Given the description of an element on the screen output the (x, y) to click on. 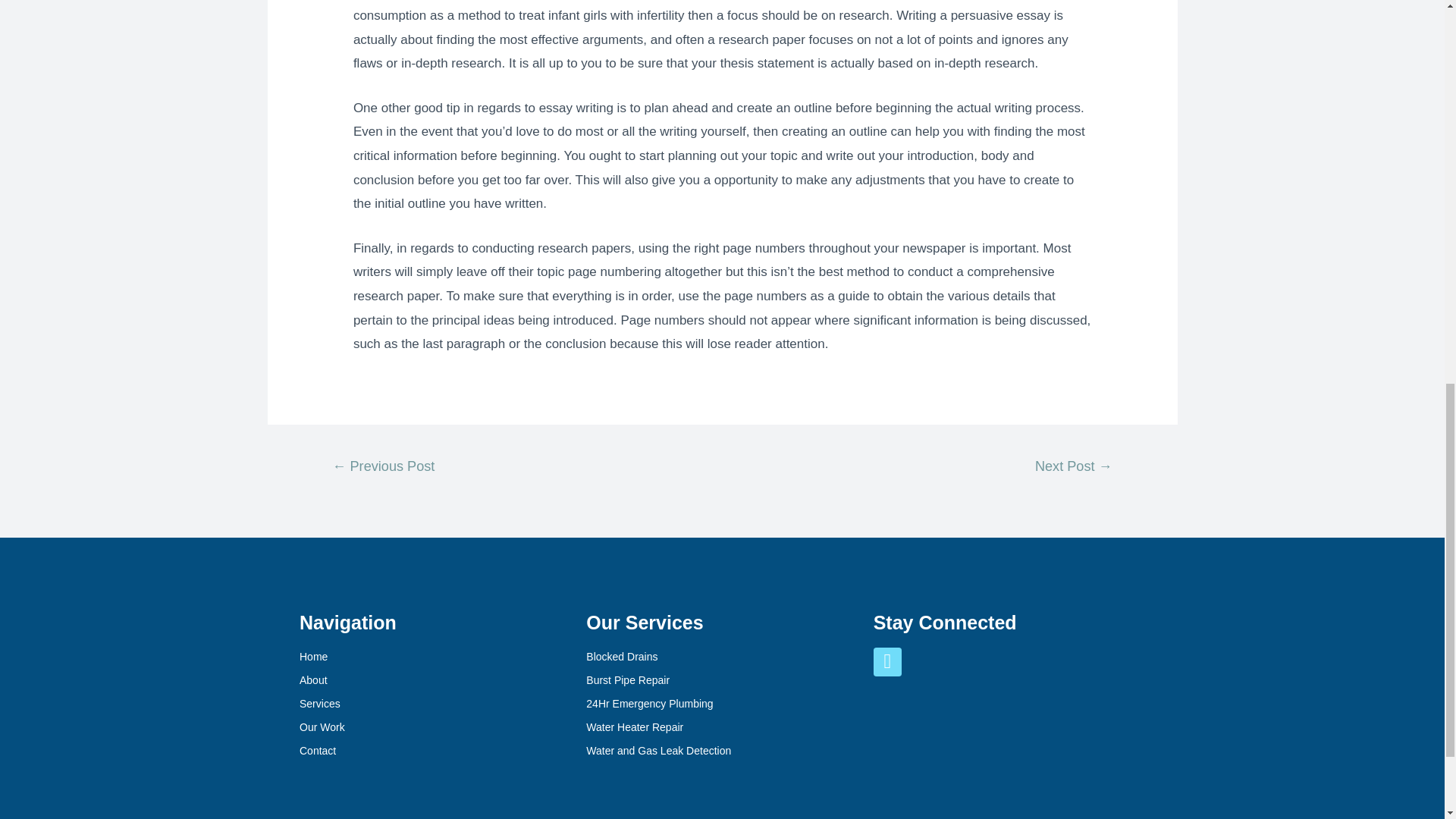
Burst Pipe Repair (721, 680)
Water and Gas Leak Detection (721, 751)
About (434, 680)
Services (434, 704)
Home (434, 657)
Contact (434, 751)
24Hr Emergency Plumbing (721, 704)
Our Work (434, 727)
Water Heater Repair (721, 727)
Blocked Drains (721, 657)
